Given the description of an element on the screen output the (x, y) to click on. 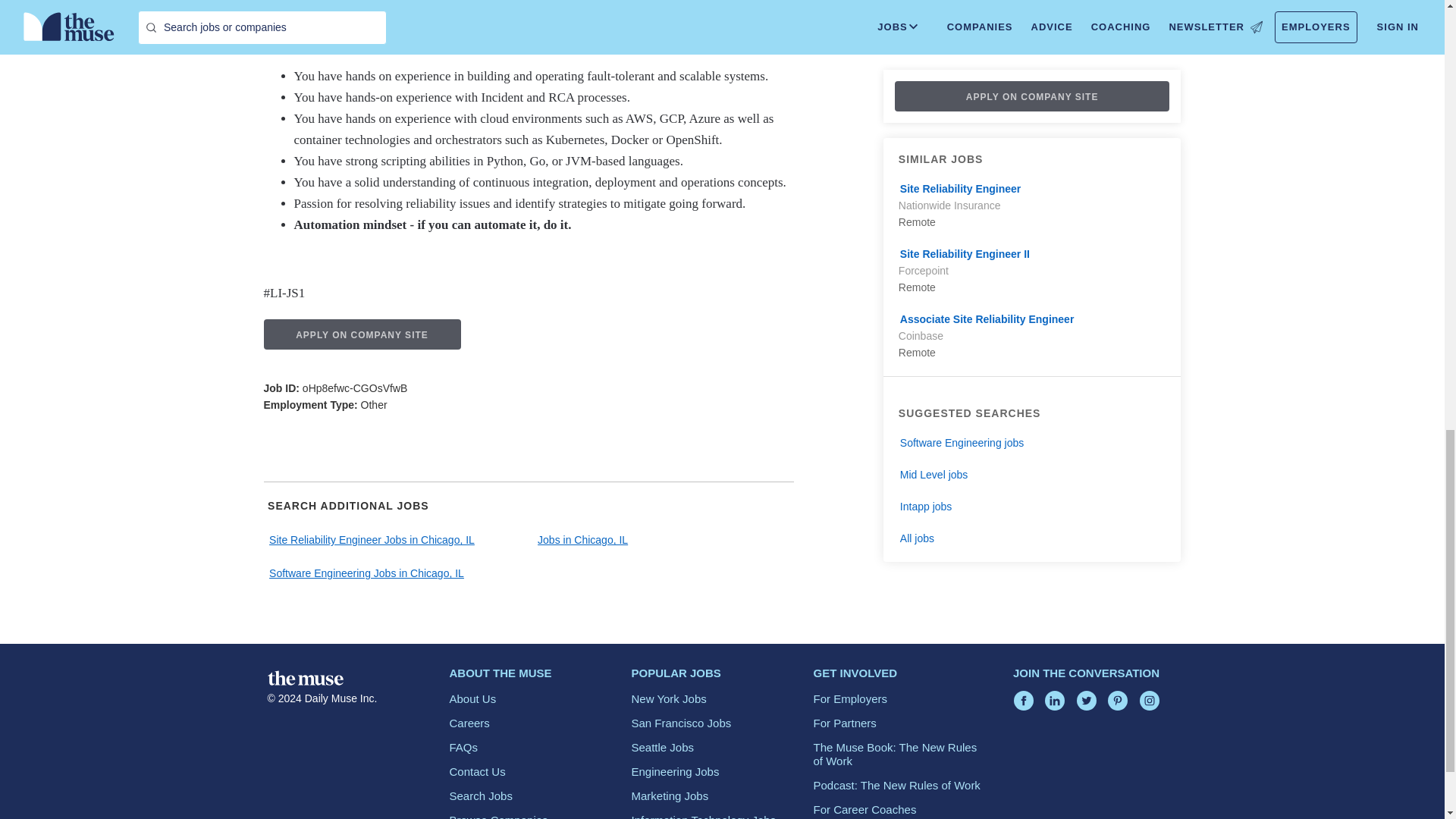
The Muse LogoA logo with "the muse" in white text. (304, 677)
Terms of Service (444, 1)
